Given the description of an element on the screen output the (x, y) to click on. 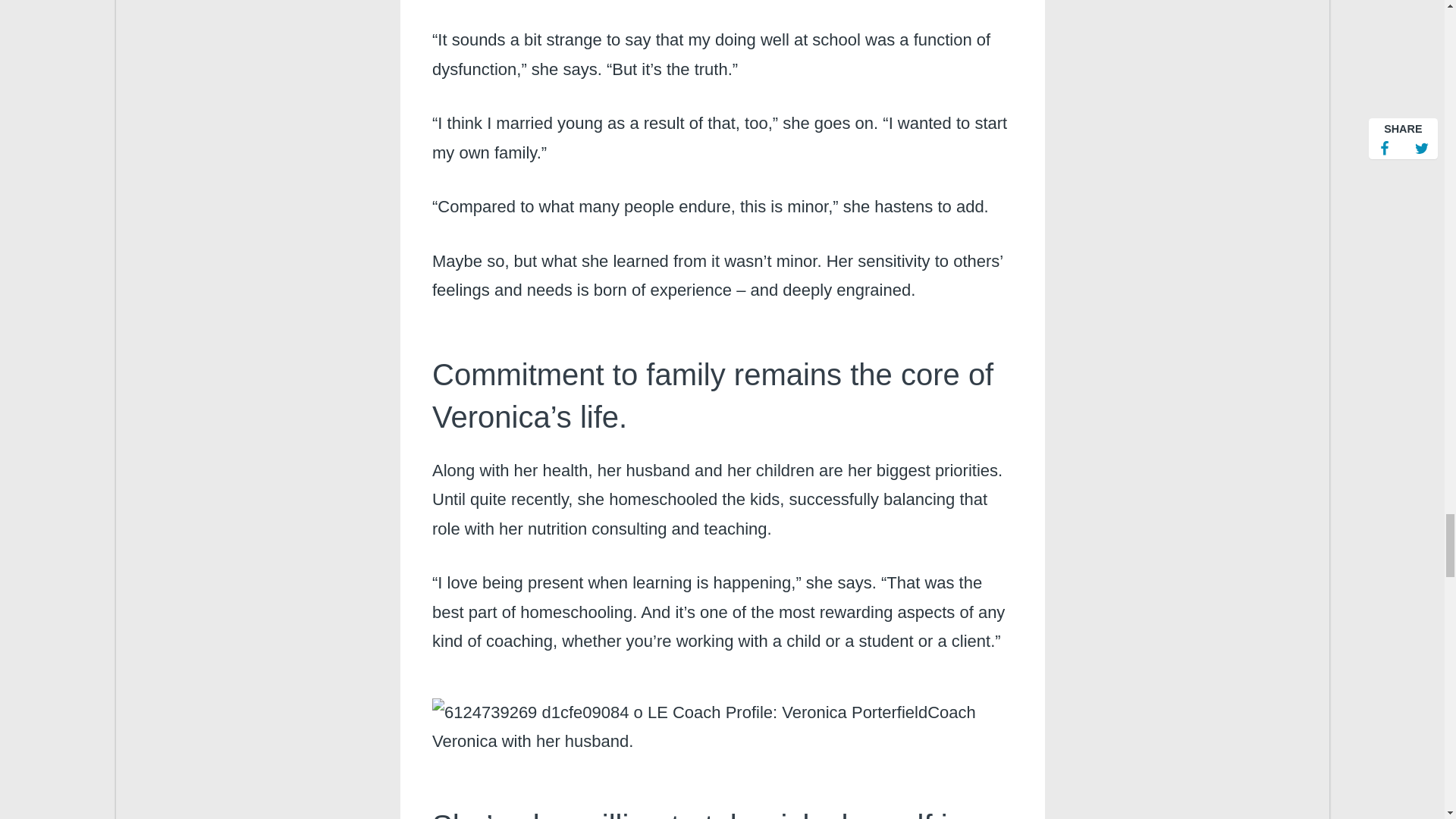
Nutrition Certification (679, 713)
